Given the description of an element on the screen output the (x, y) to click on. 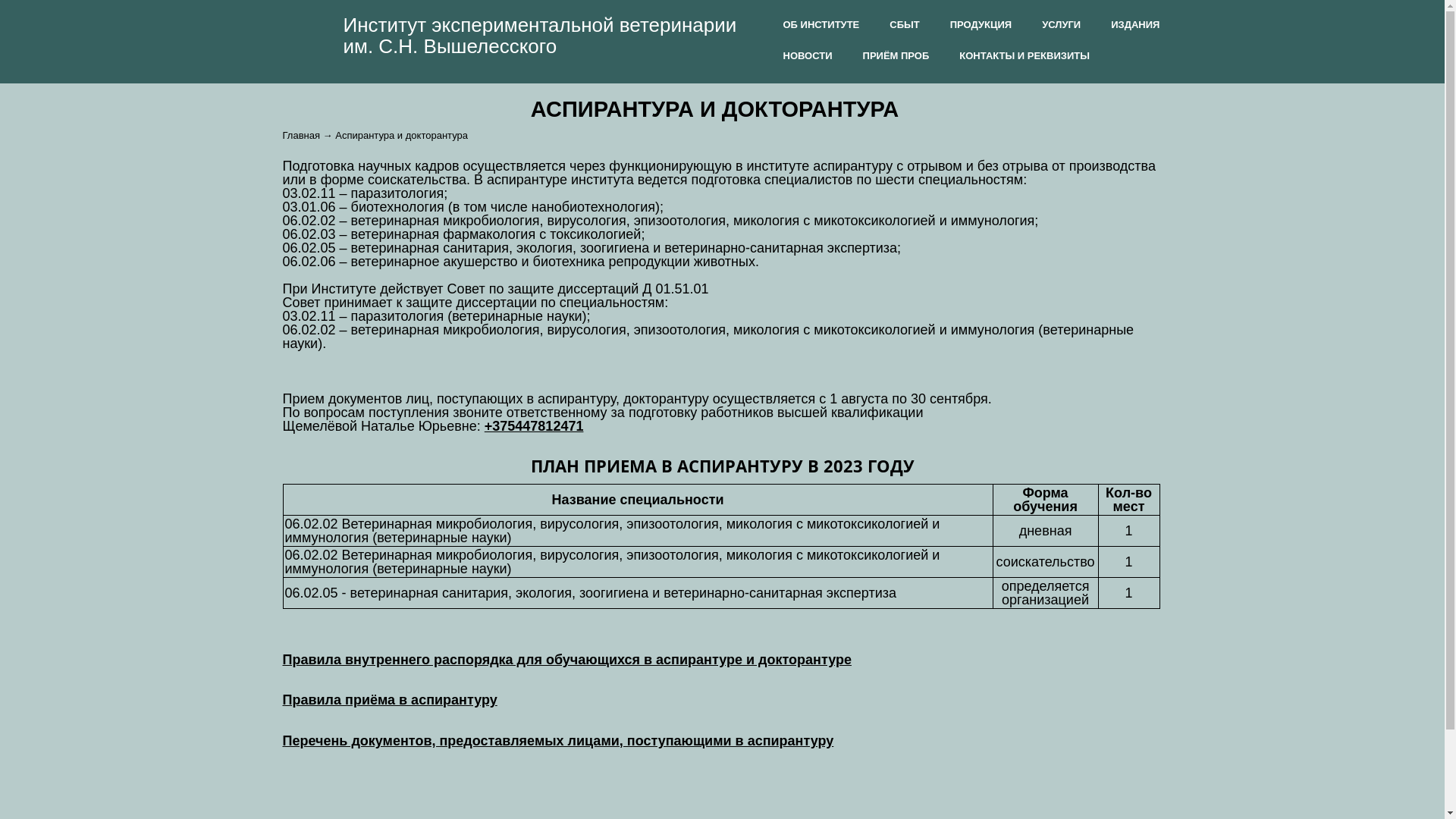
+375447812471 Element type: text (533, 425)
